Given the description of an element on the screen output the (x, y) to click on. 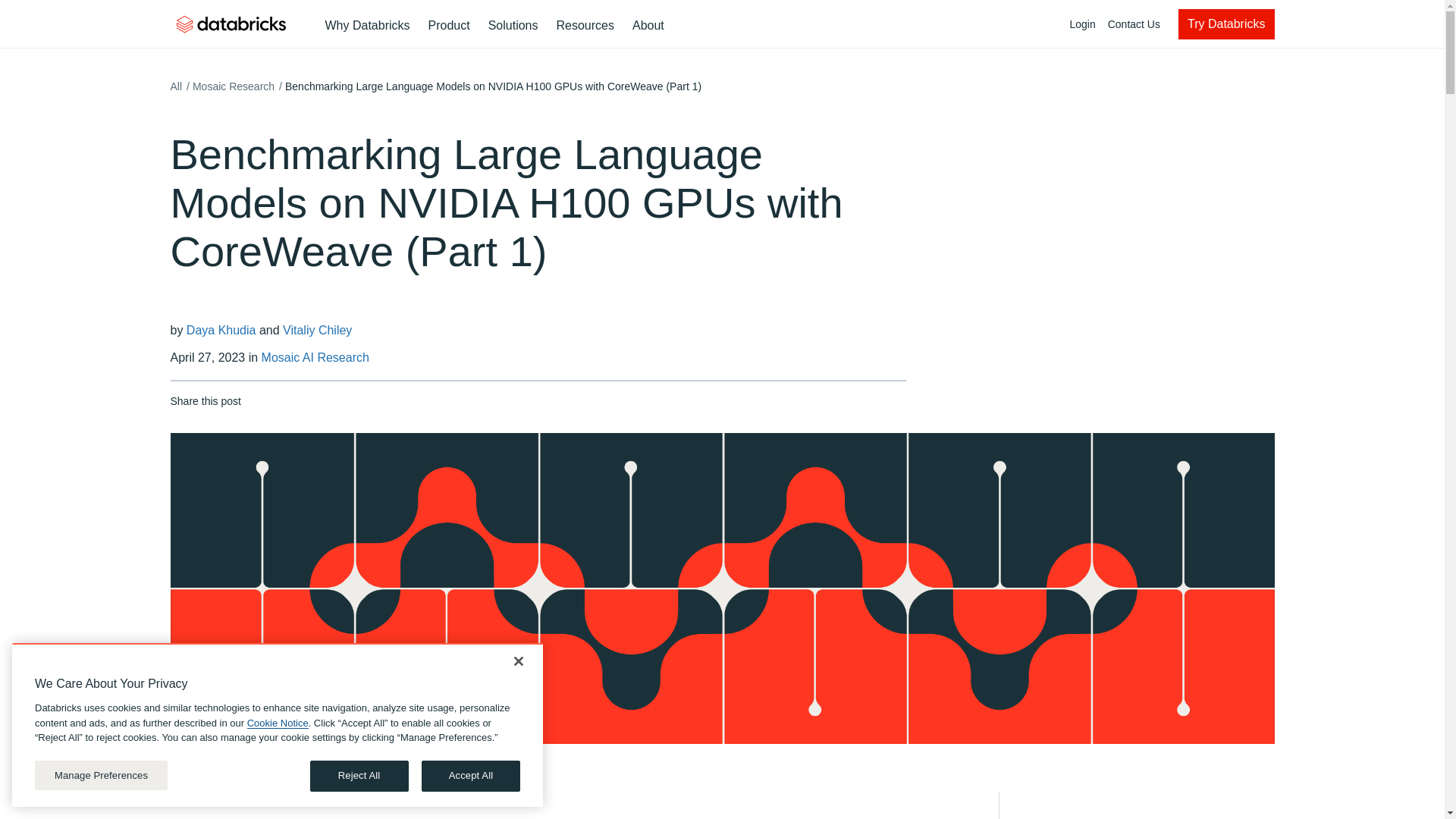
Product (449, 25)
Why Databricks (367, 25)
Solutions (513, 25)
